Given the description of an element on the screen output the (x, y) to click on. 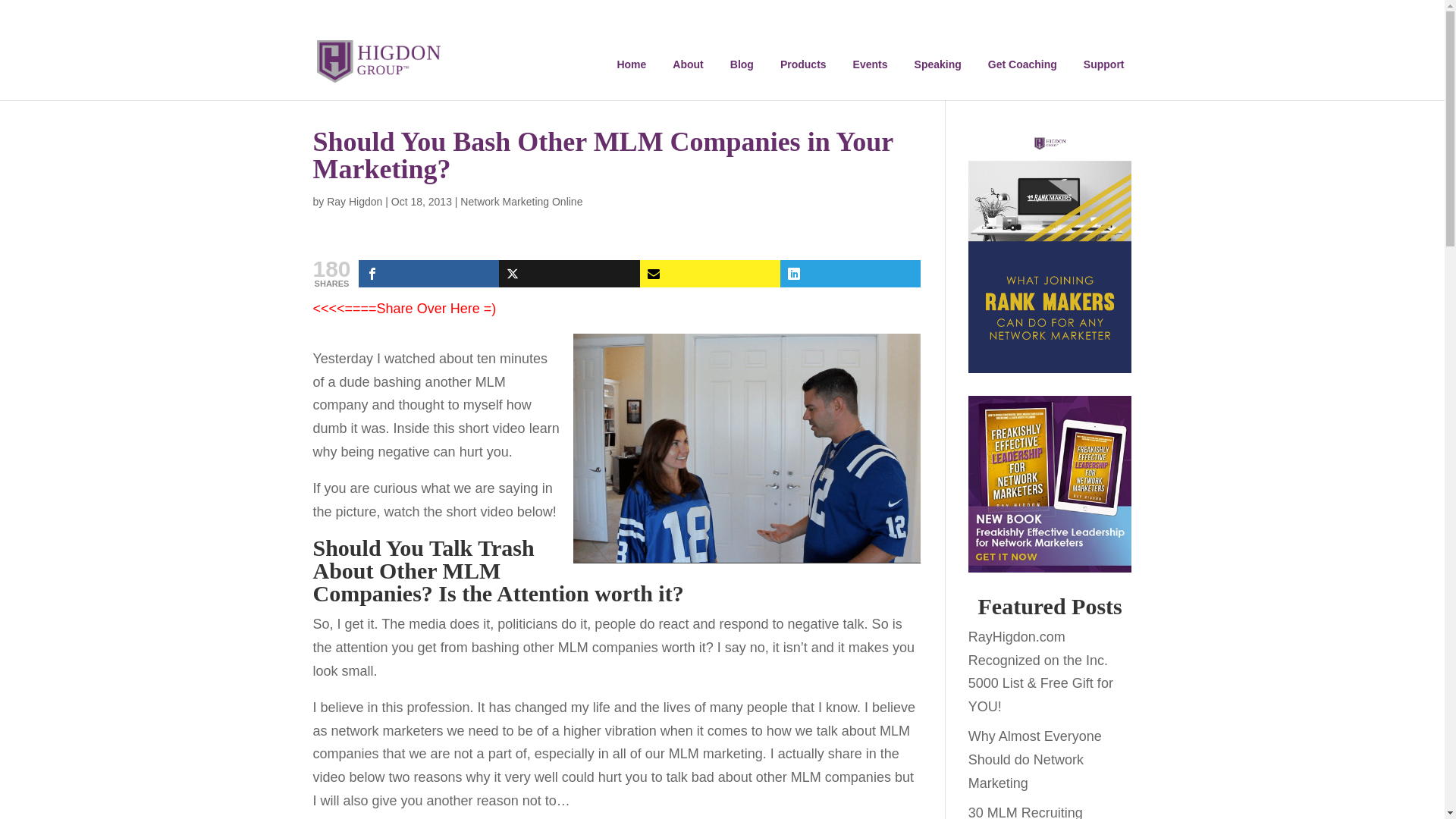
Products (803, 63)
Twitter (569, 273)
Blog (741, 63)
Get Coaching (1021, 63)
Facebook (428, 273)
Speaking (938, 63)
About (687, 63)
Subscribe (710, 273)
Network Marketing Online (521, 201)
Support (1103, 63)
